Given the description of an element on the screen output the (x, y) to click on. 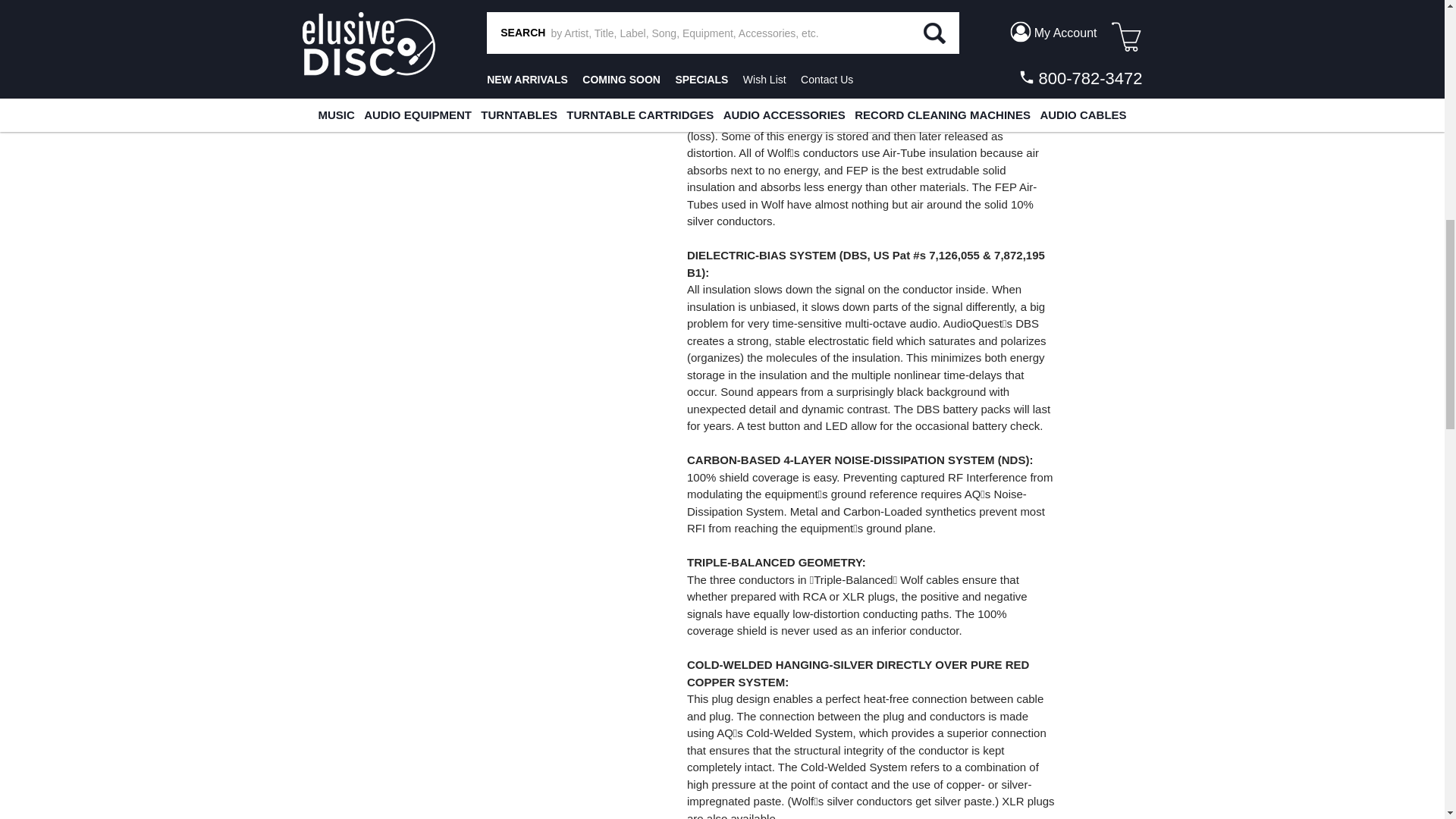
AudioQuest Wolf 5.0M XLR Subwoofer Cable (398, 3)
